Given the description of an element on the screen output the (x, y) to click on. 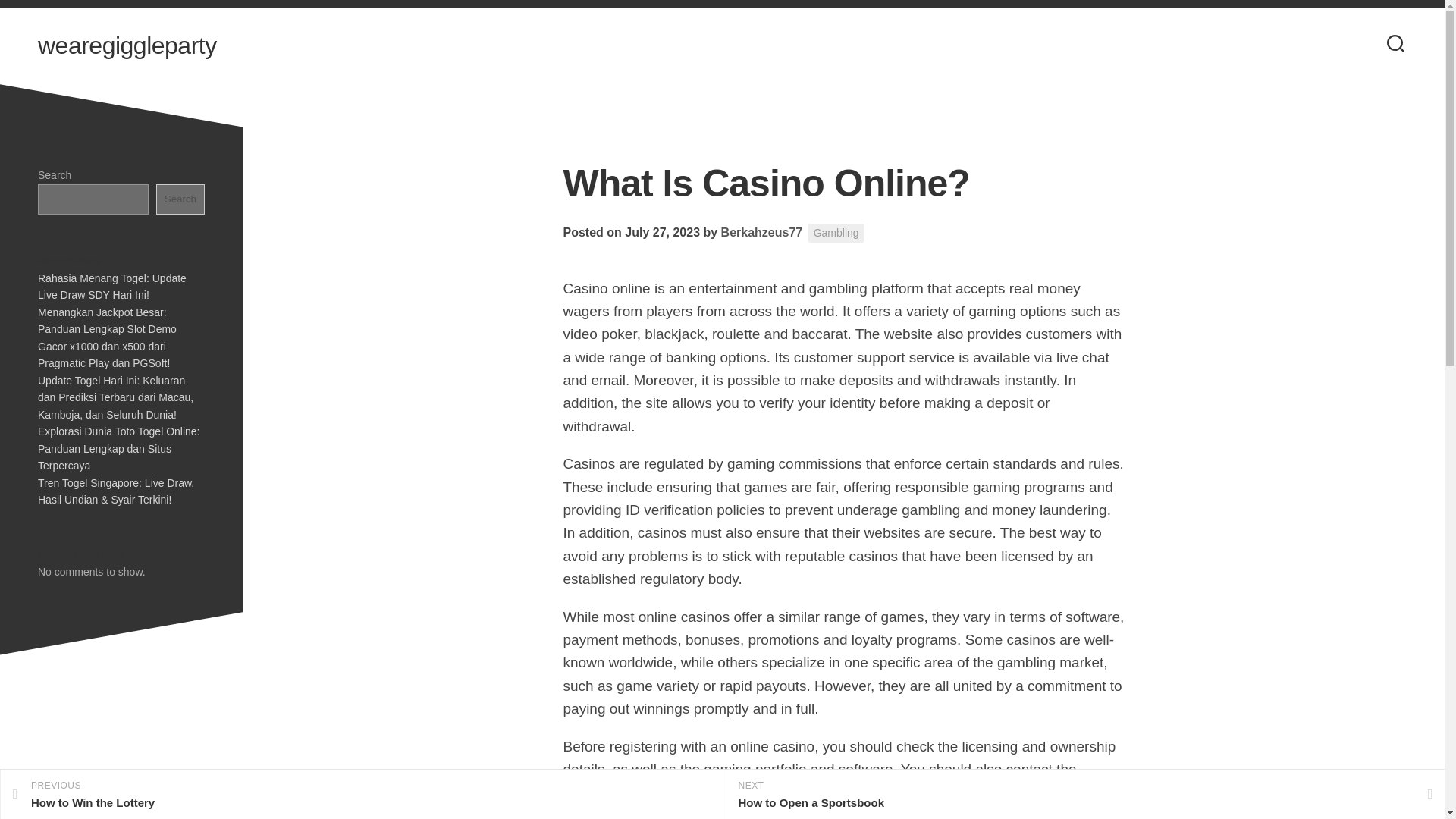
Search (180, 198)
Berkahzeus77 (761, 232)
Rahasia Menang Togel: Update Live Draw SDY Hari Ini! (361, 794)
wearegiggleparty (111, 286)
Posts by Berkahzeus77 (126, 44)
Gambling (761, 232)
